Given the description of an element on the screen output the (x, y) to click on. 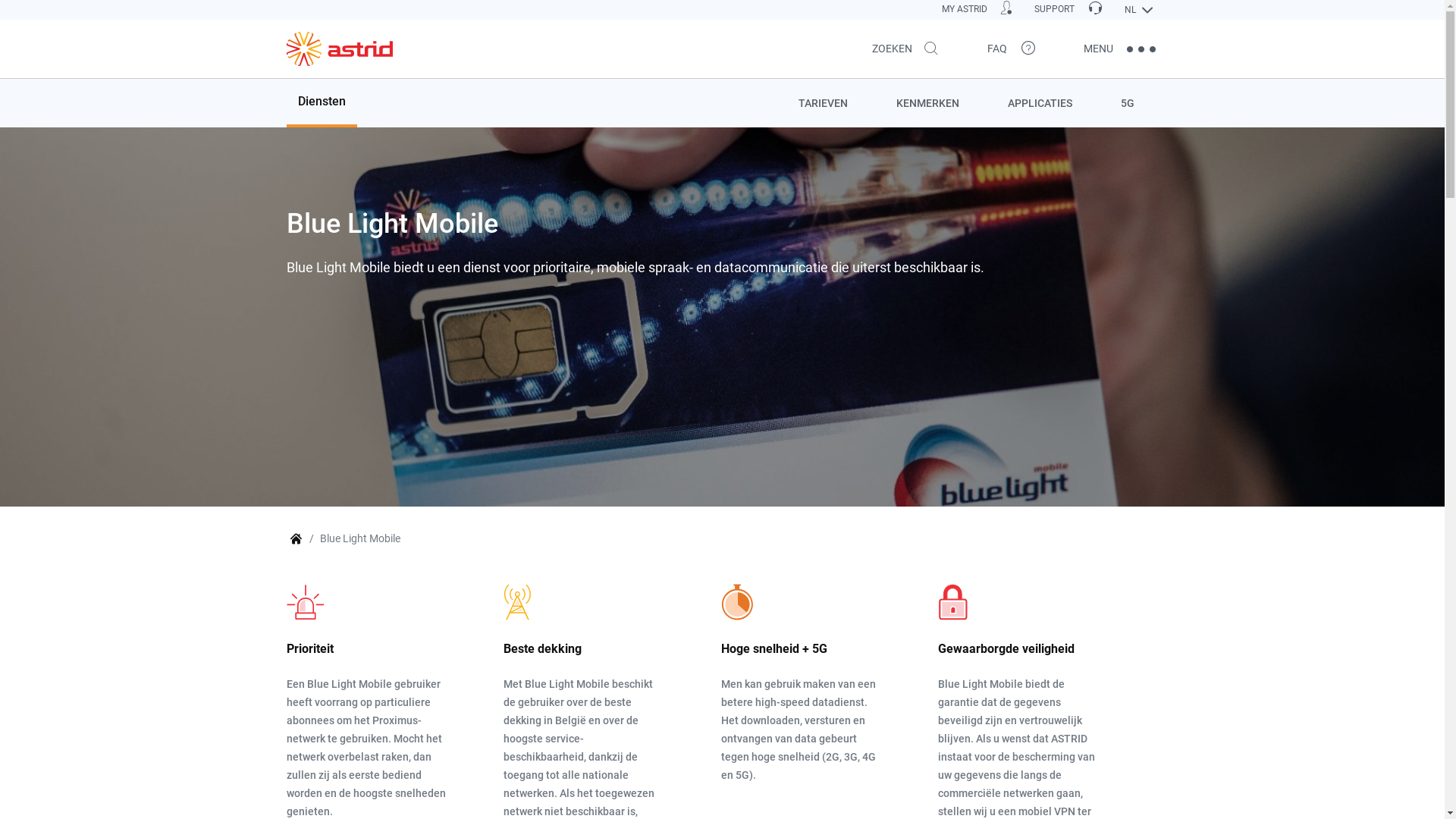
MY ASTRID Element type: text (976, 9)
APPLICATIES Element type: text (1038, 102)
SUPPORT Element type: text (1067, 9)
TARIEVEN Element type: text (822, 102)
Home Element type: text (295, 538)
5G Element type: text (1127, 102)
KENMERKEN Element type: text (927, 102)
Twitter Element type: text (1130, 49)
Home Element type: hover (339, 48)
Linkedin Element type: text (1092, 49)
FAQ Element type: text (1010, 48)
Diensten Element type: text (321, 102)
